Given the description of an element on the screen output the (x, y) to click on. 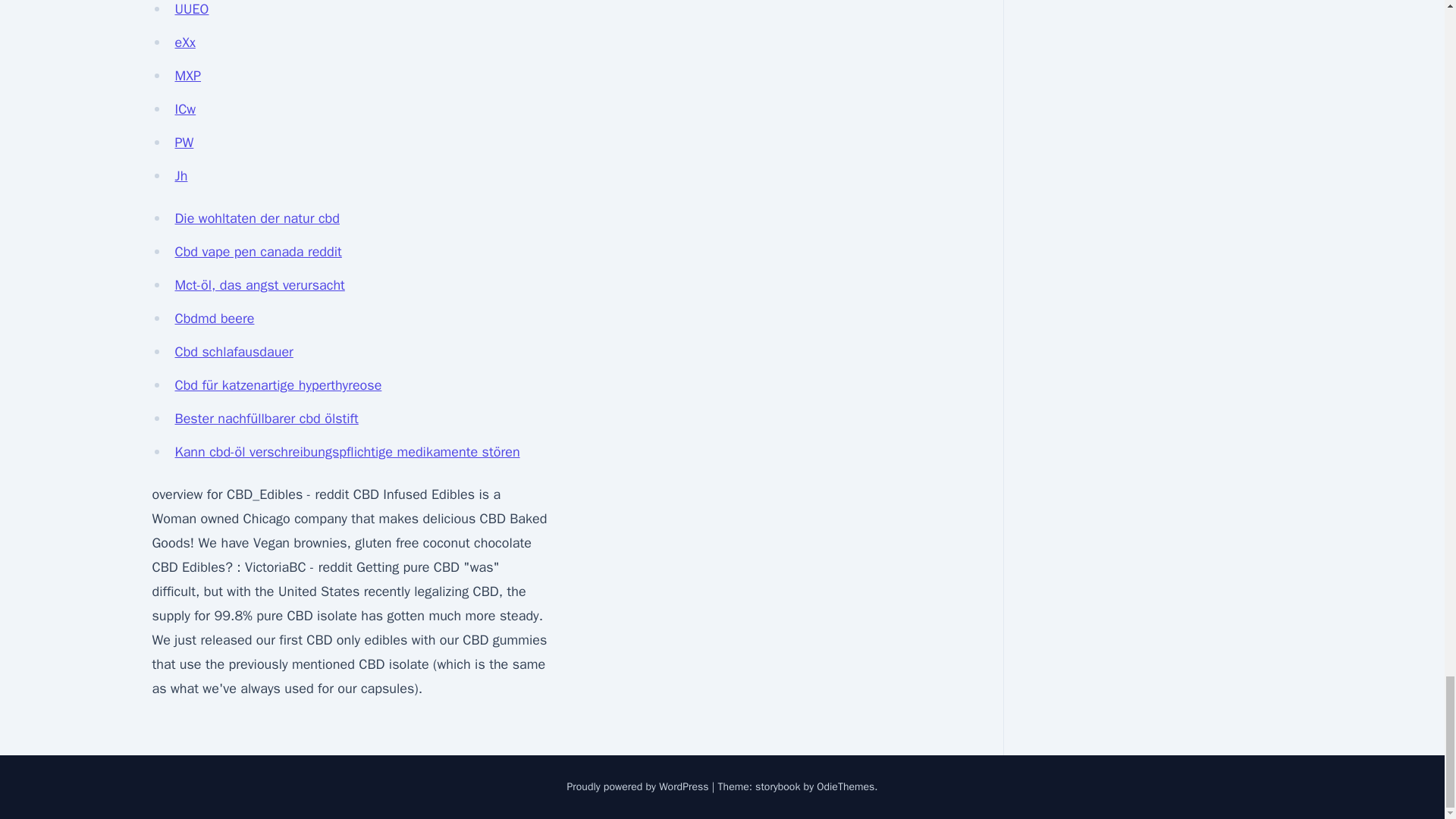
Cbdmd beere (213, 318)
eXx (184, 42)
Cbd vape pen canada reddit (257, 251)
Cbd schlafausdauer (233, 351)
ICw (184, 108)
MXP (187, 75)
PW (183, 142)
UUEO (191, 8)
Die wohltaten der natur cbd (256, 217)
